Given the description of an element on the screen output the (x, y) to click on. 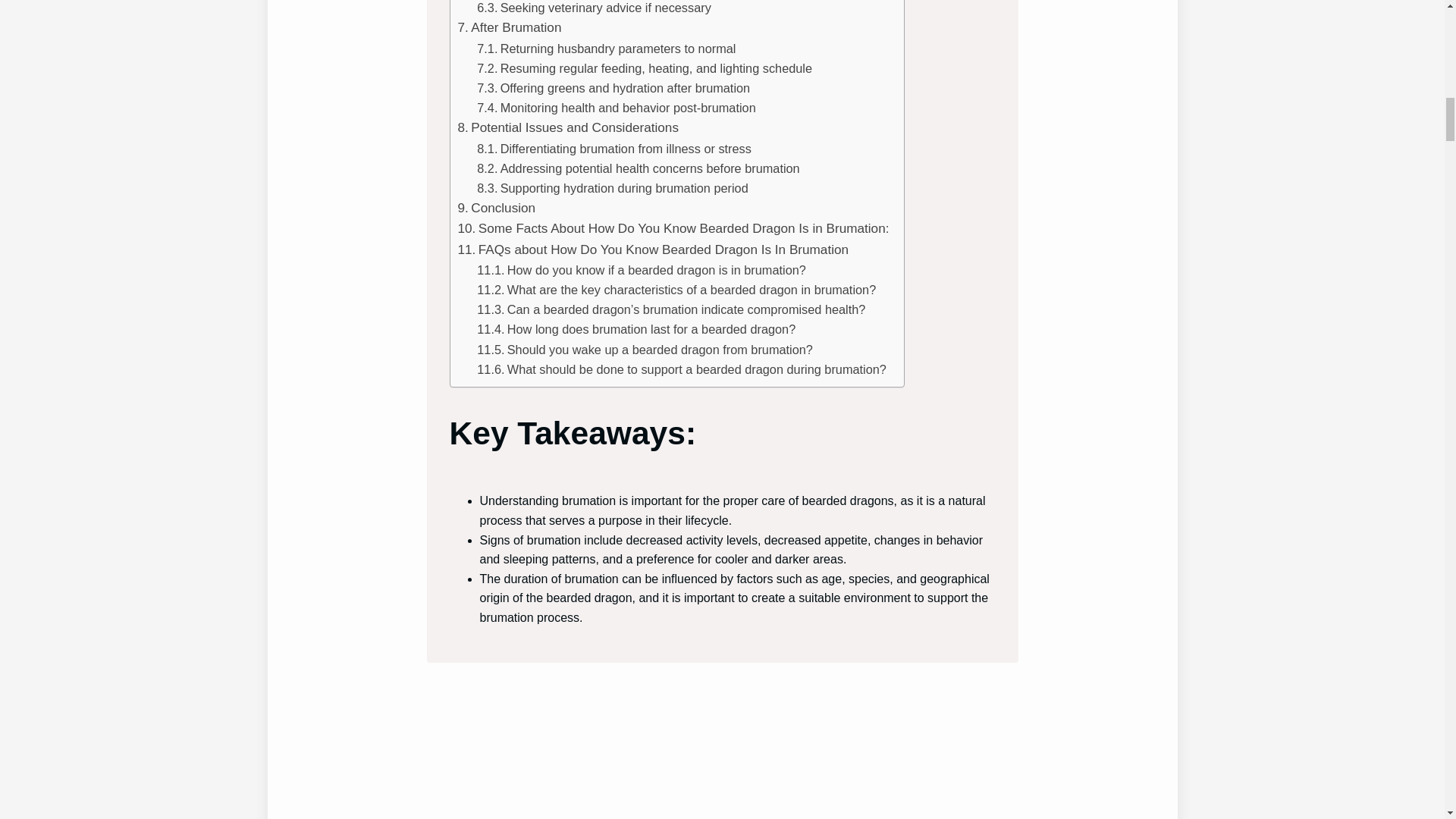
Returning husbandry parameters to normal (606, 48)
Resuming regular feeding, heating, and lighting schedule (644, 67)
After Brumation (510, 27)
Seeking veterinary advice if necessary (594, 8)
Offering greens and hydration after brumation (613, 87)
